Given the description of an element on the screen output the (x, y) to click on. 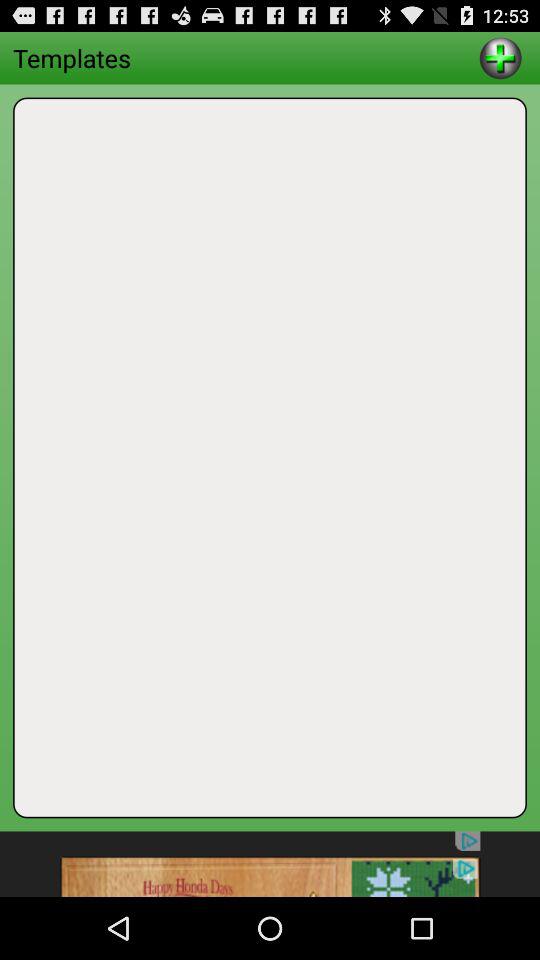
add template (500, 57)
